Given the description of an element on the screen output the (x, y) to click on. 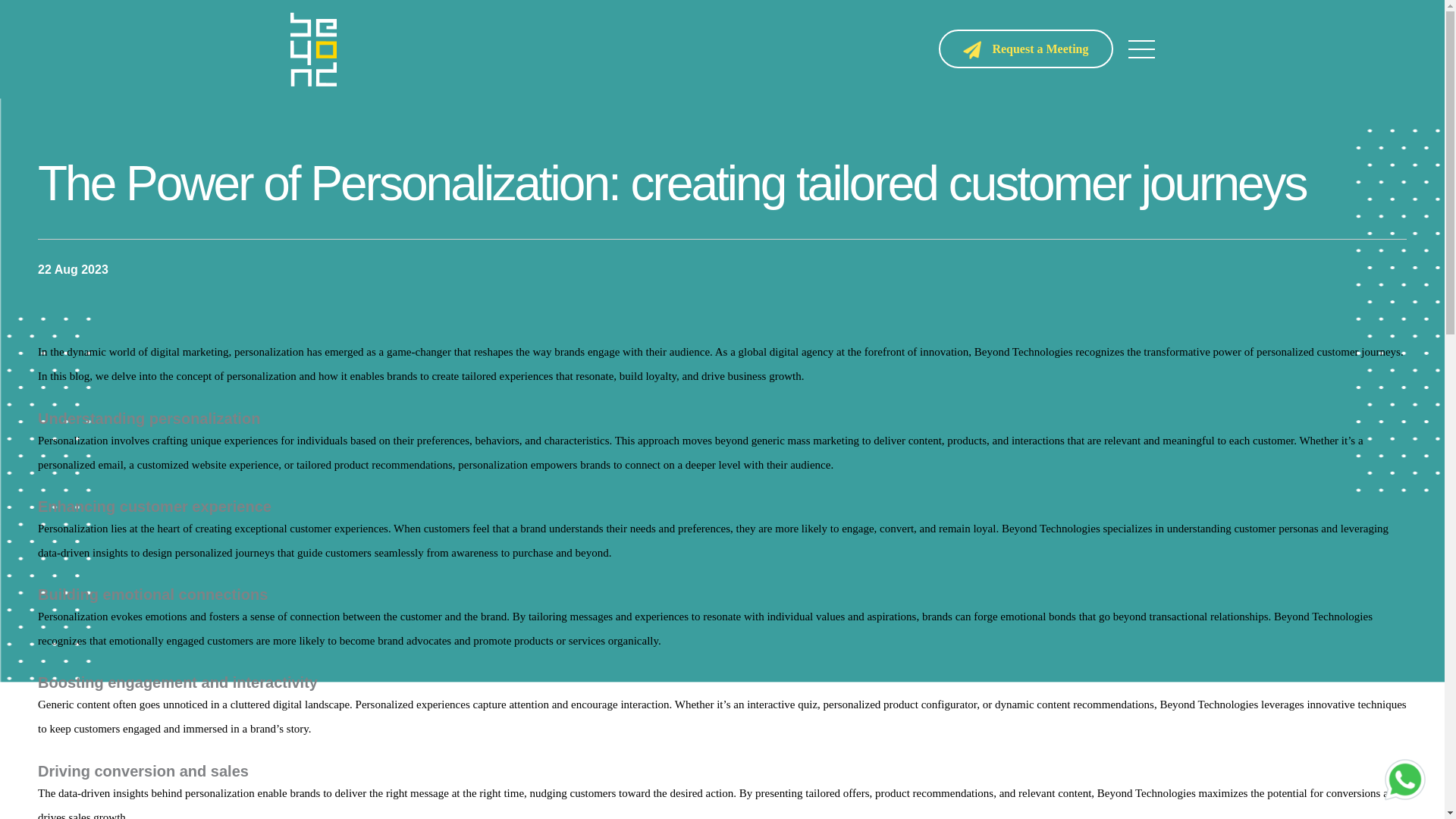
Request a Meeting (1025, 48)
